Given the description of an element on the screen output the (x, y) to click on. 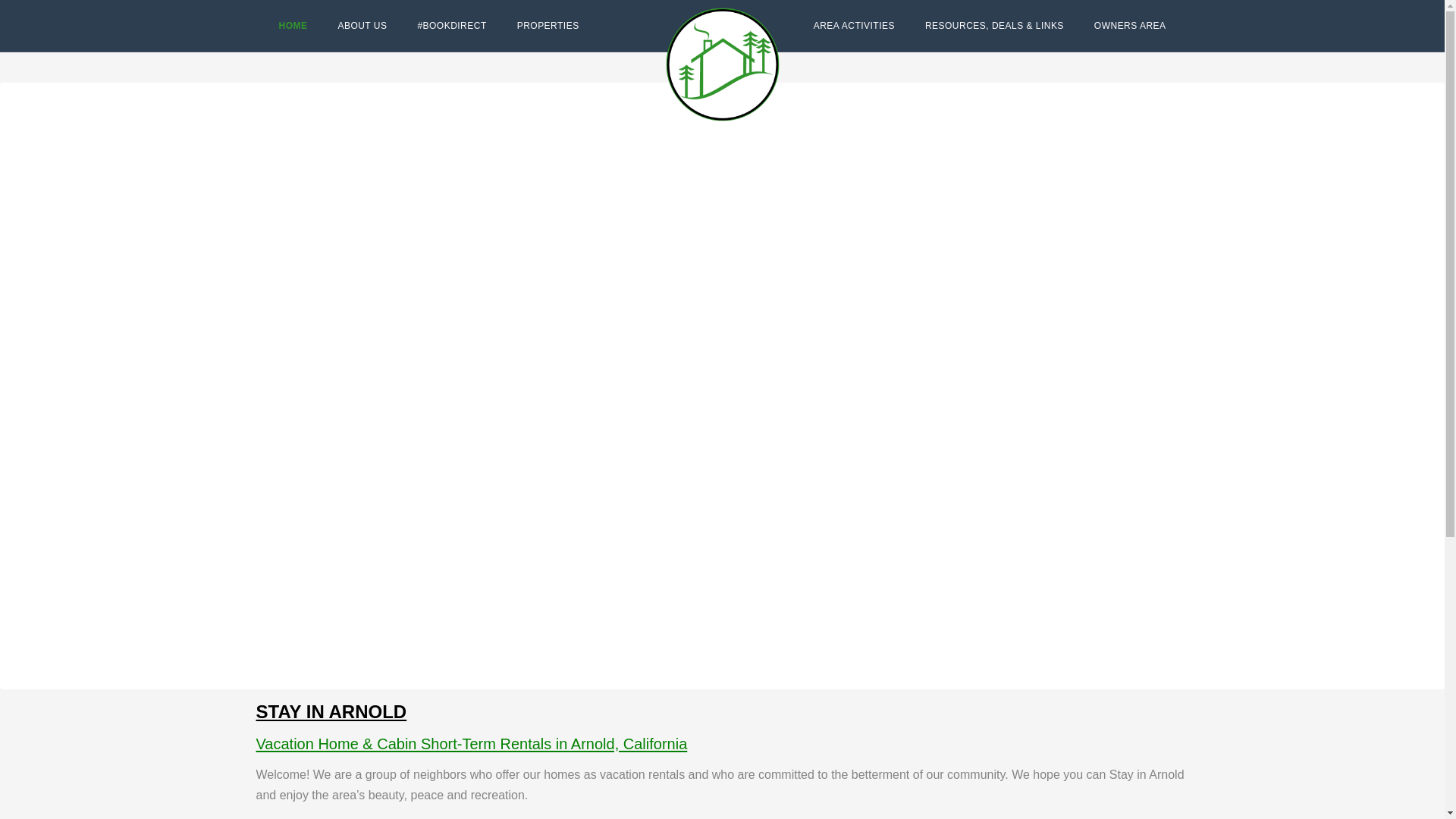
ABOUT US (362, 25)
AREA ACTIVITIES (854, 25)
PROPERTIES (547, 25)
OWNERS AREA (1130, 25)
